Given the description of an element on the screen output the (x, y) to click on. 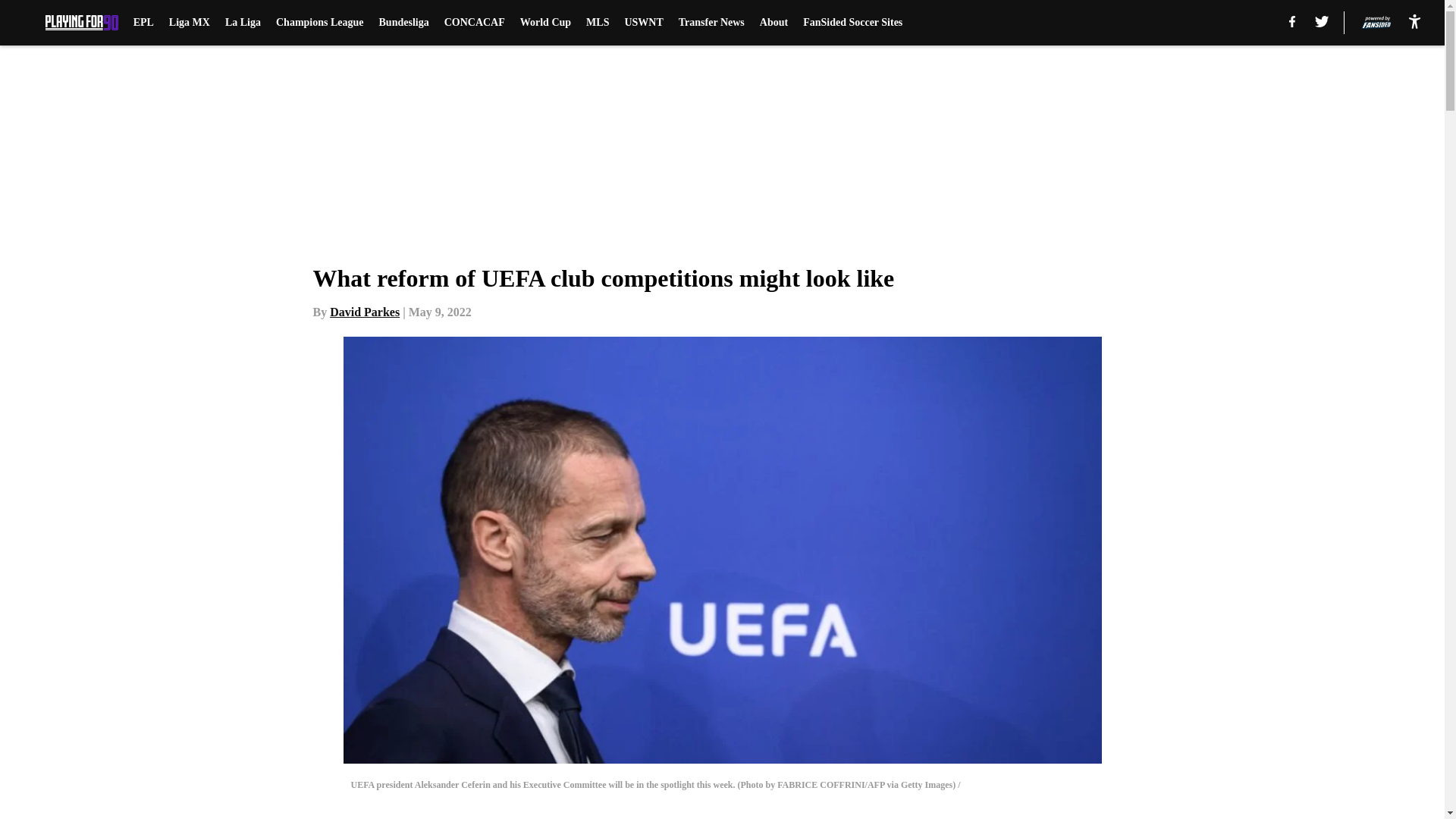
About (773, 22)
EPL (143, 22)
La Liga (242, 22)
CONCACAF (474, 22)
FanSided Soccer Sites (852, 22)
Transfer News (711, 22)
Liga MX (188, 22)
Champions League (320, 22)
David Parkes (364, 311)
MLS (597, 22)
